Given the description of an element on the screen output the (x, y) to click on. 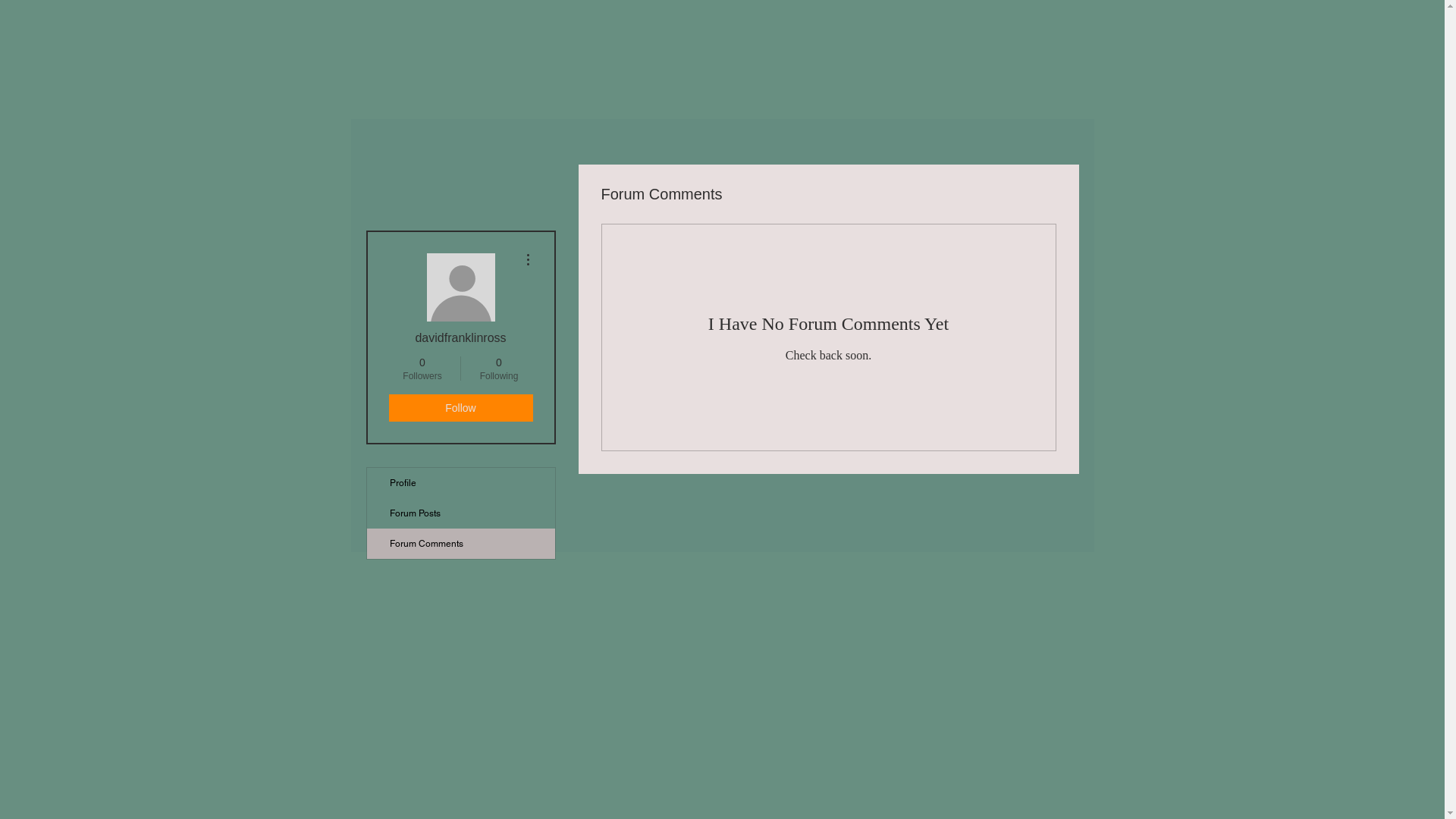
Forum Posts Element type: text (461, 513)
Follow Element type: text (460, 407)
Forum Comments Element type: text (461, 543)
0
Followers Element type: text (421, 368)
Profile Element type: text (461, 482)
0
Following Element type: text (499, 368)
